Given the description of an element on the screen output the (x, y) to click on. 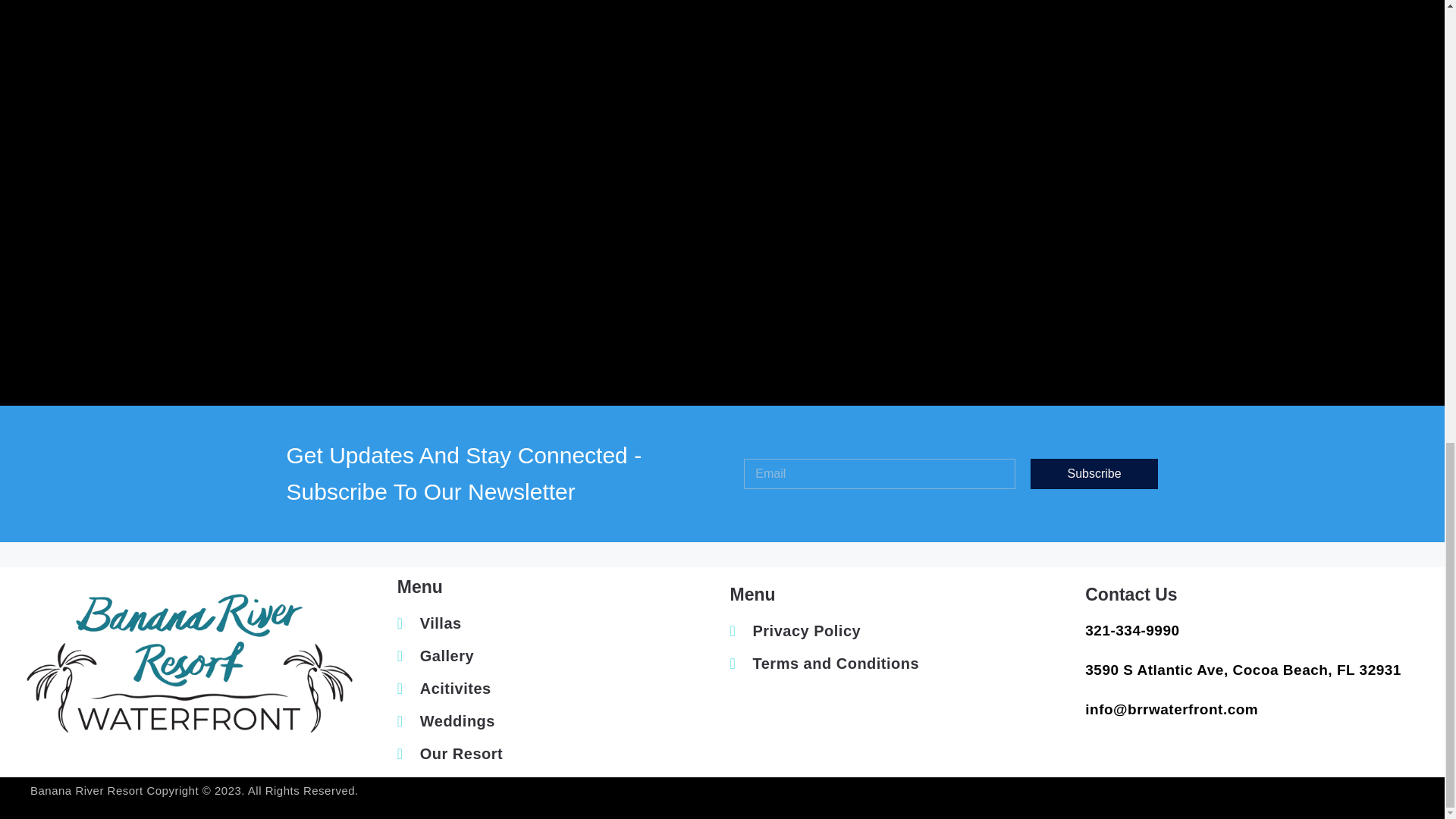
Acitivites (559, 688)
Our Resort (559, 753)
Villas (559, 622)
Weddings (559, 721)
Subscribe (1094, 473)
Gallery (559, 655)
